Given the description of an element on the screen output the (x, y) to click on. 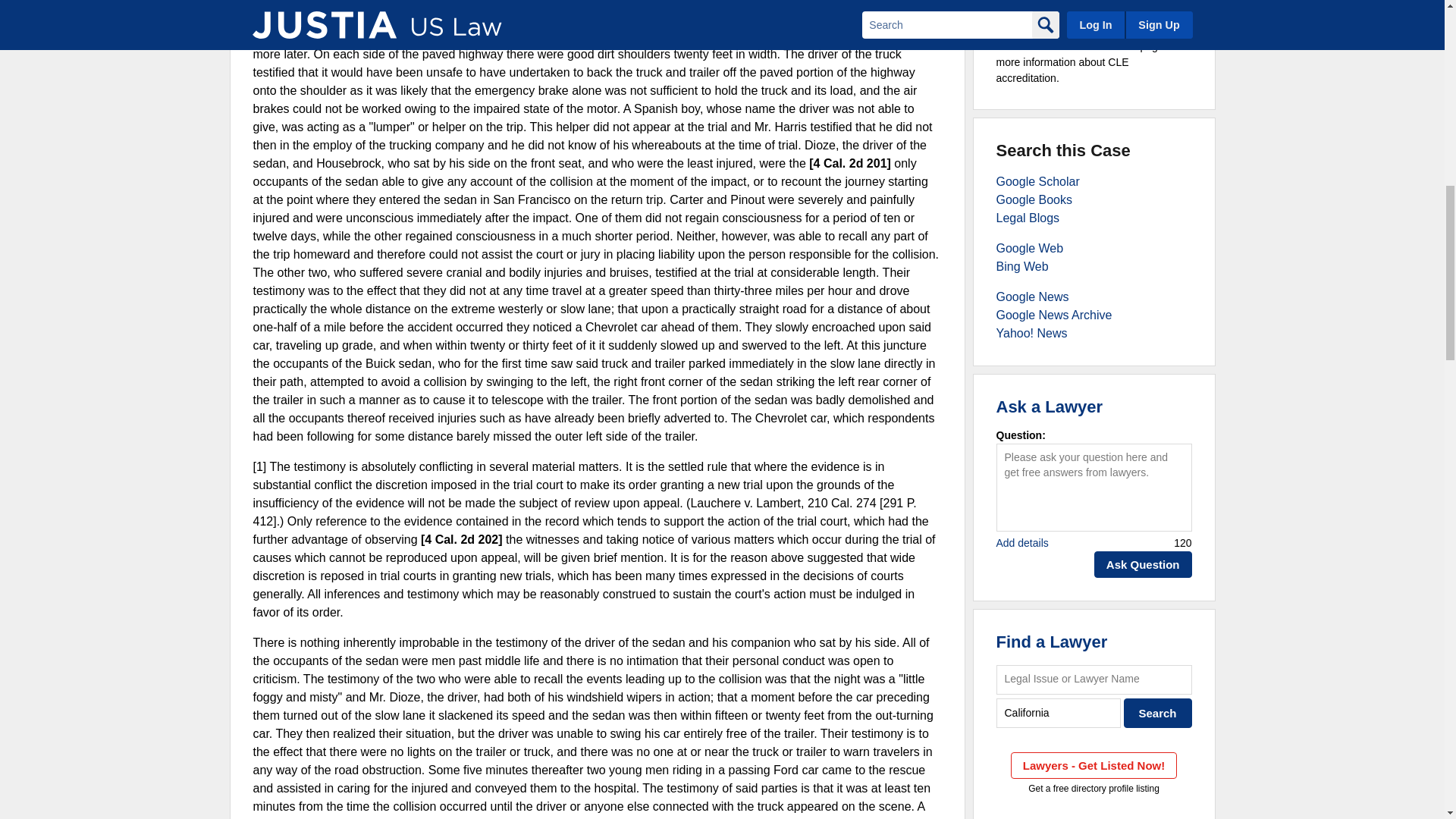
Law - Google Scholar (1037, 181)
Law - Google Books (1034, 199)
Law - Google News (1031, 296)
Search (1158, 713)
Law - Google Web (1029, 247)
Search (1158, 713)
Law - Google News Archive (1053, 314)
Law - Legal Blogs (1027, 217)
California (1058, 713)
Law - Yahoo! News (1031, 332)
Law - Bing Web (1021, 266)
Legal Issue or Lawyer Name (1093, 679)
City, State (1058, 713)
